Given the description of an element on the screen output the (x, y) to click on. 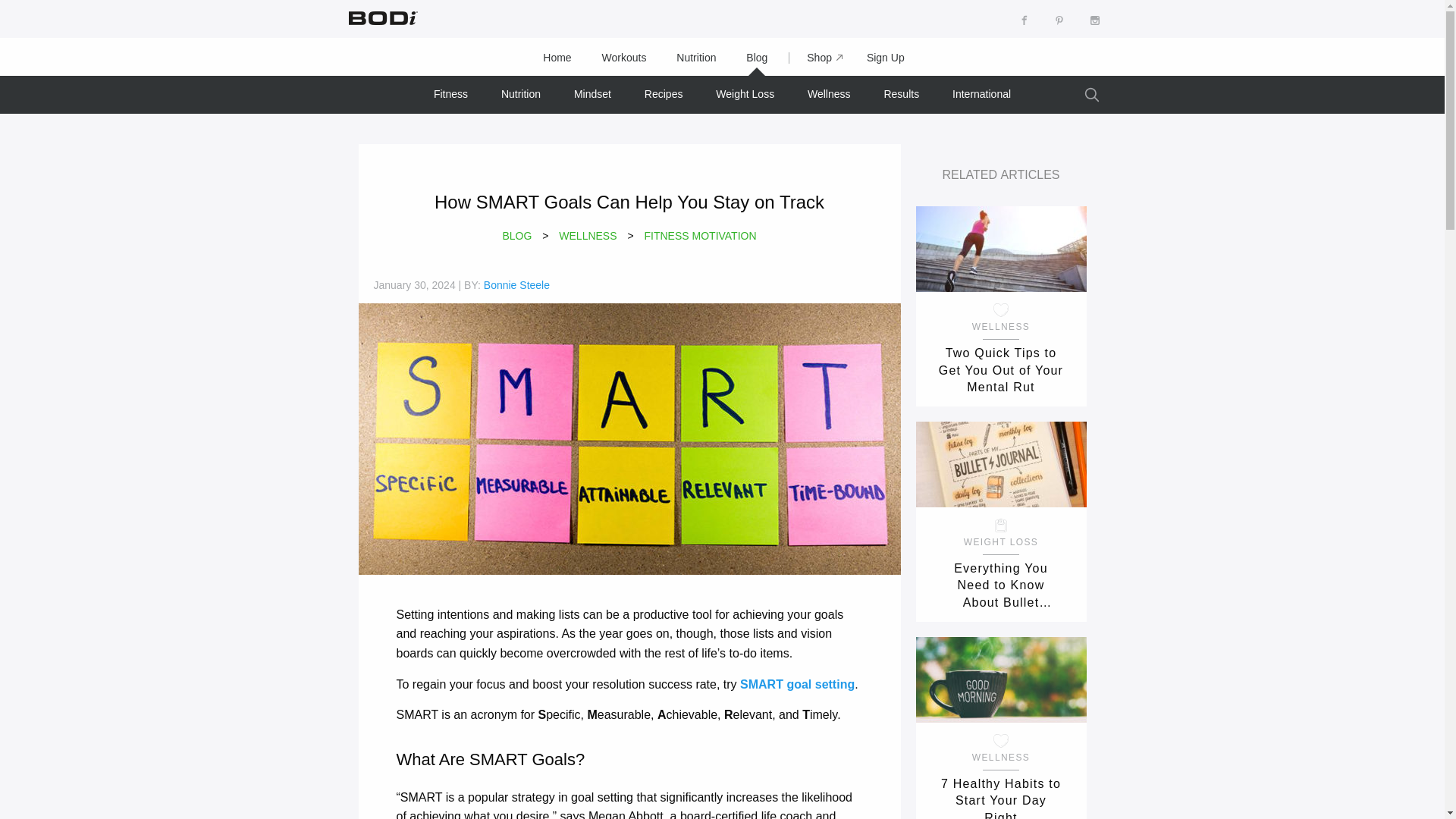
Nutrition (521, 93)
Workouts (624, 57)
Sign Up (885, 57)
Blog (756, 57)
Beachbody on Demand (381, 17)
Tuesday, January 30, 2024, 12:50 pm (413, 285)
Fitness (451, 93)
Shop (817, 57)
Nutrition (695, 57)
Posts by Bonnie Steele (516, 285)
